Given the description of an element on the screen output the (x, y) to click on. 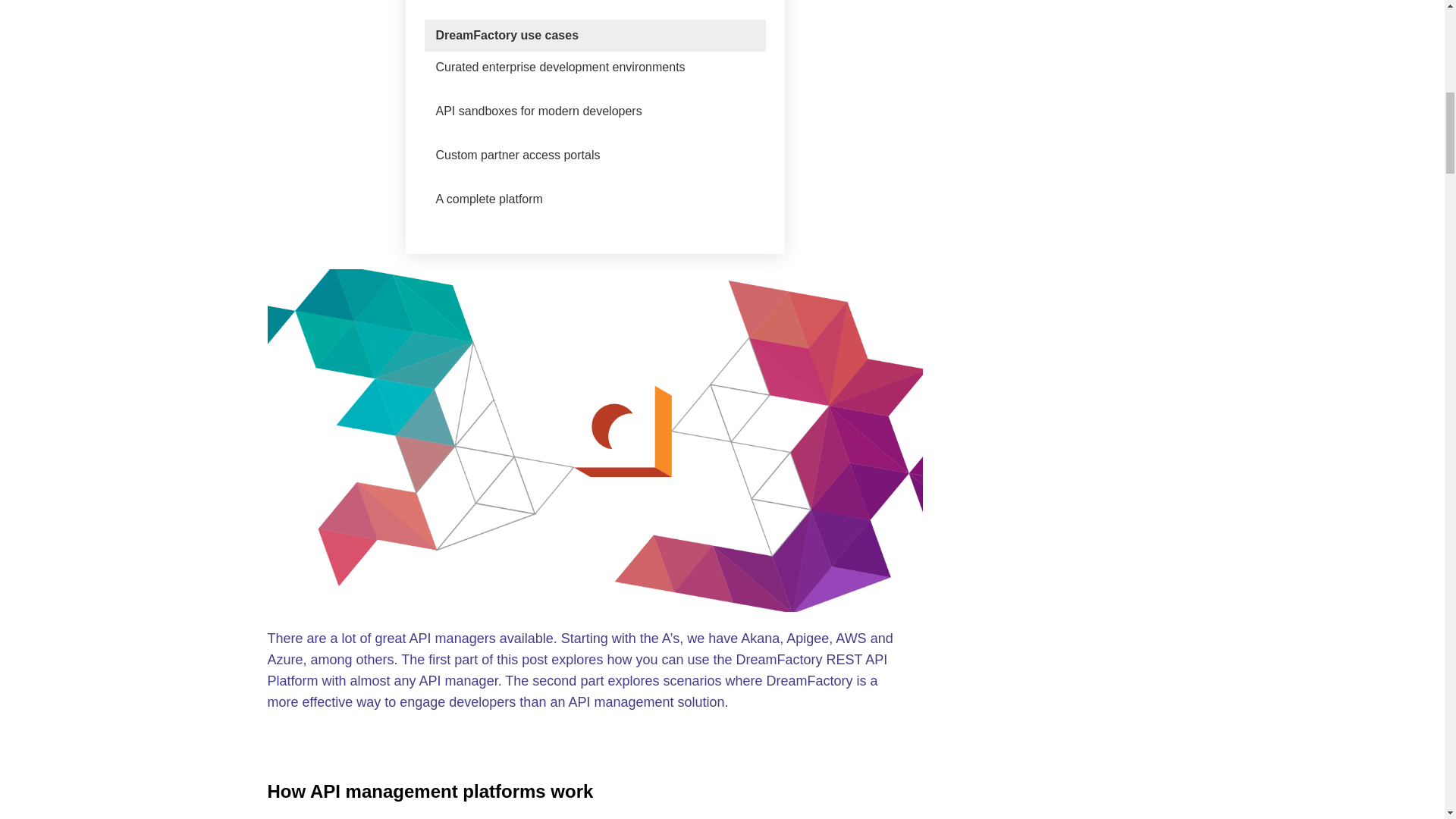
API sandboxes for modern developers (538, 110)
Custom partner access portals (517, 154)
A complete platform (488, 198)
DreamFactory use cases (506, 34)
Curated enterprise development environments (559, 66)
